Given the description of an element on the screen output the (x, y) to click on. 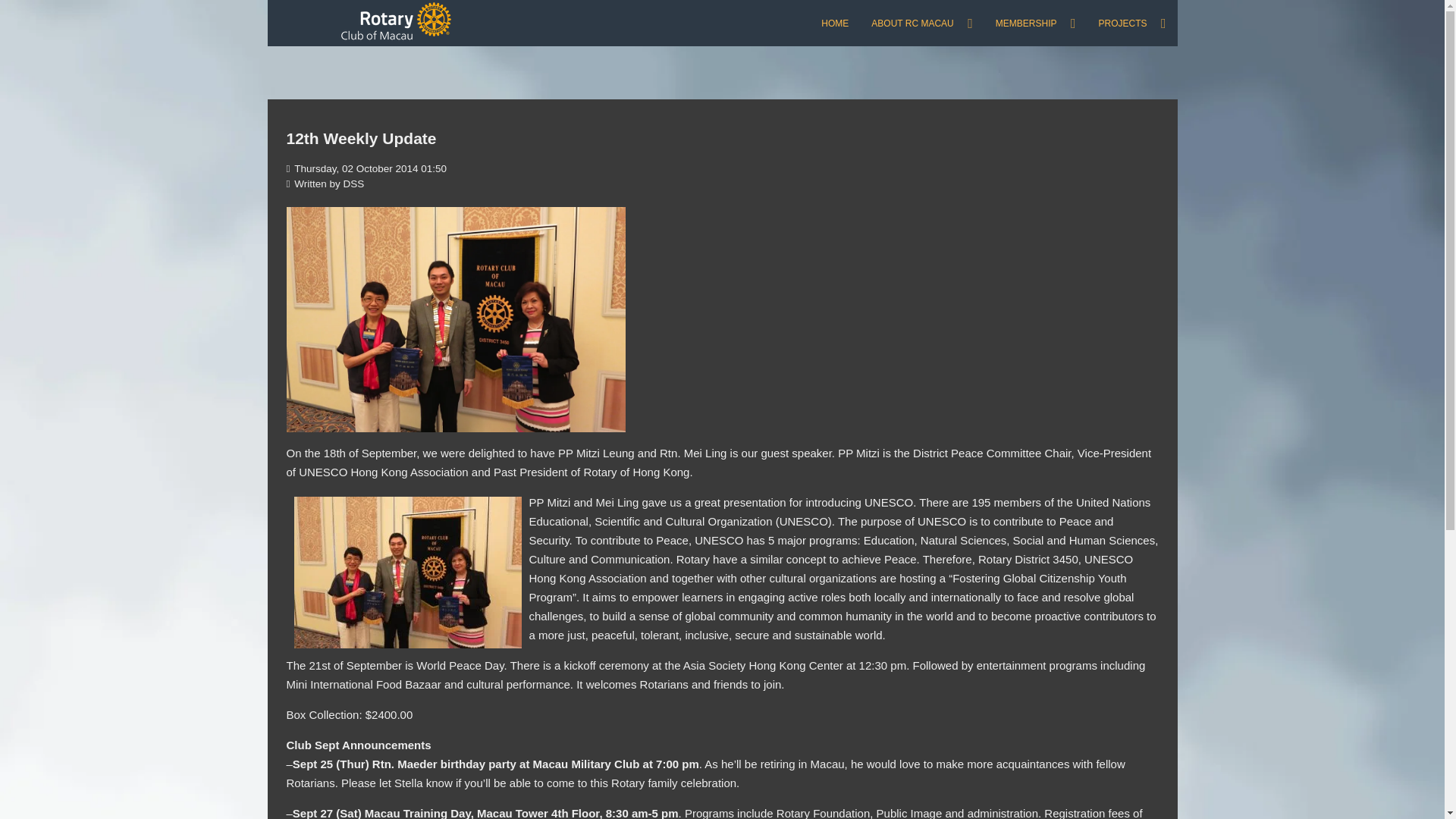
HOME (834, 22)
PROJECTS (1131, 22)
MEMBERSHIP (1035, 22)
ABOUT RC MACAU (922, 22)
